Given the description of an element on the screen output the (x, y) to click on. 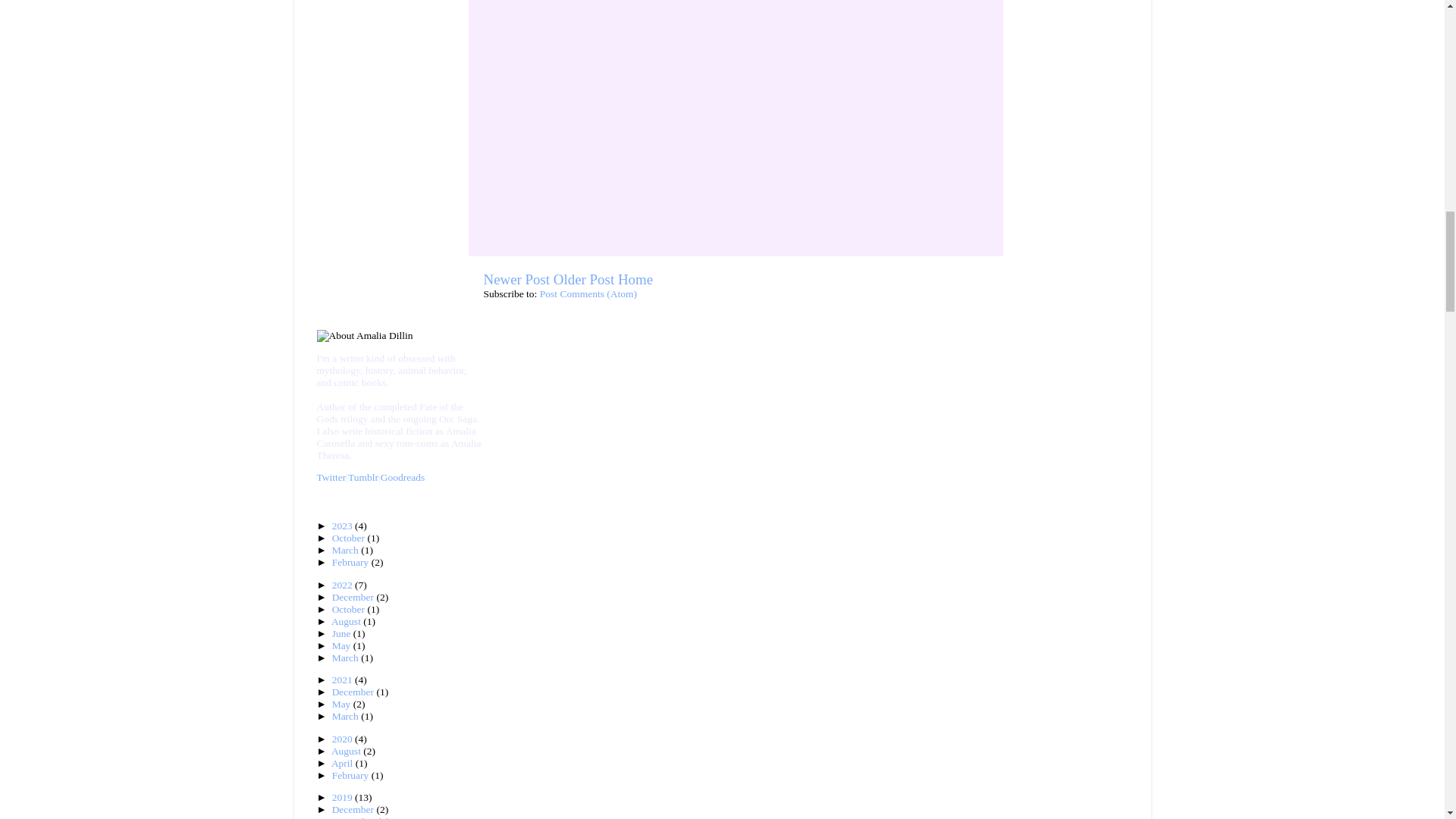
Newer Post (516, 279)
Older Post (583, 279)
Older Post (583, 279)
Twitter (331, 477)
Home (634, 279)
Newer Post (516, 279)
Tumblr (362, 477)
